Given the description of an element on the screen output the (x, y) to click on. 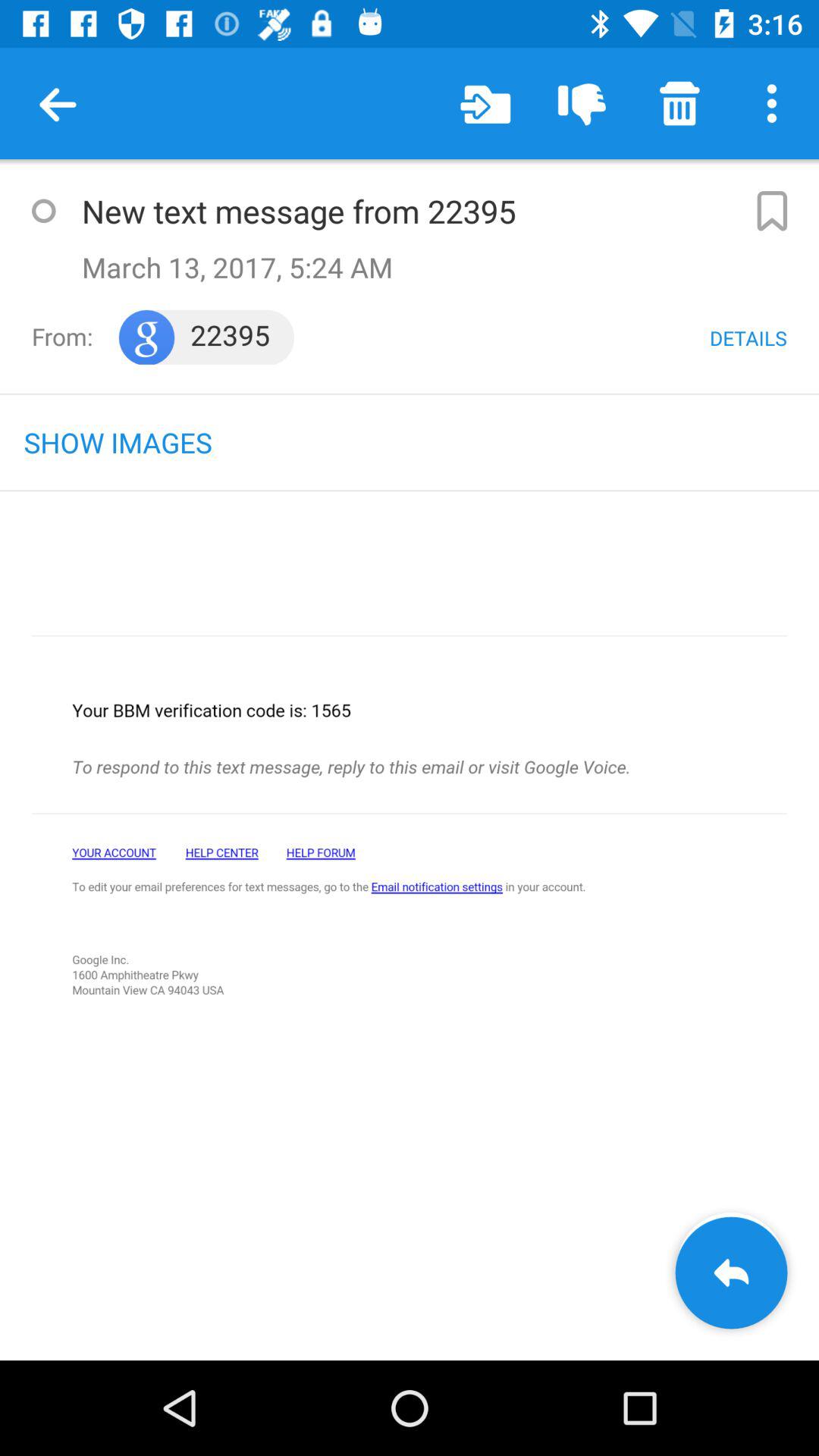
select option (43, 210)
